Given the description of an element on the screen output the (x, y) to click on. 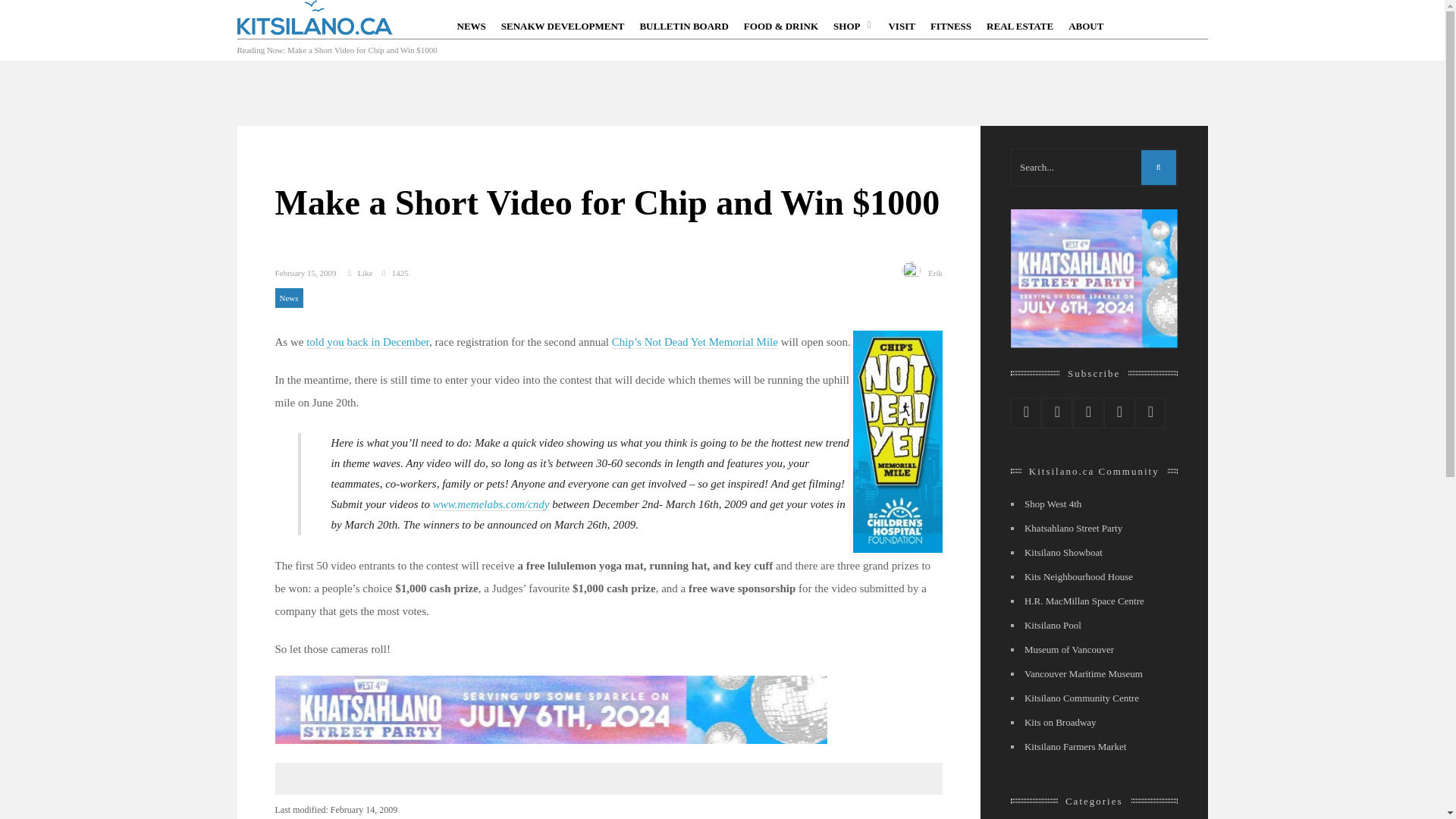
NEWS (470, 24)
 Like (357, 272)
FITNESS (950, 24)
REAL ESTATE (1019, 24)
SENAKW DEVELOPMENT (562, 24)
Like (357, 272)
Instagram (1118, 413)
Erik (935, 272)
